Given the description of an element on the screen output the (x, y) to click on. 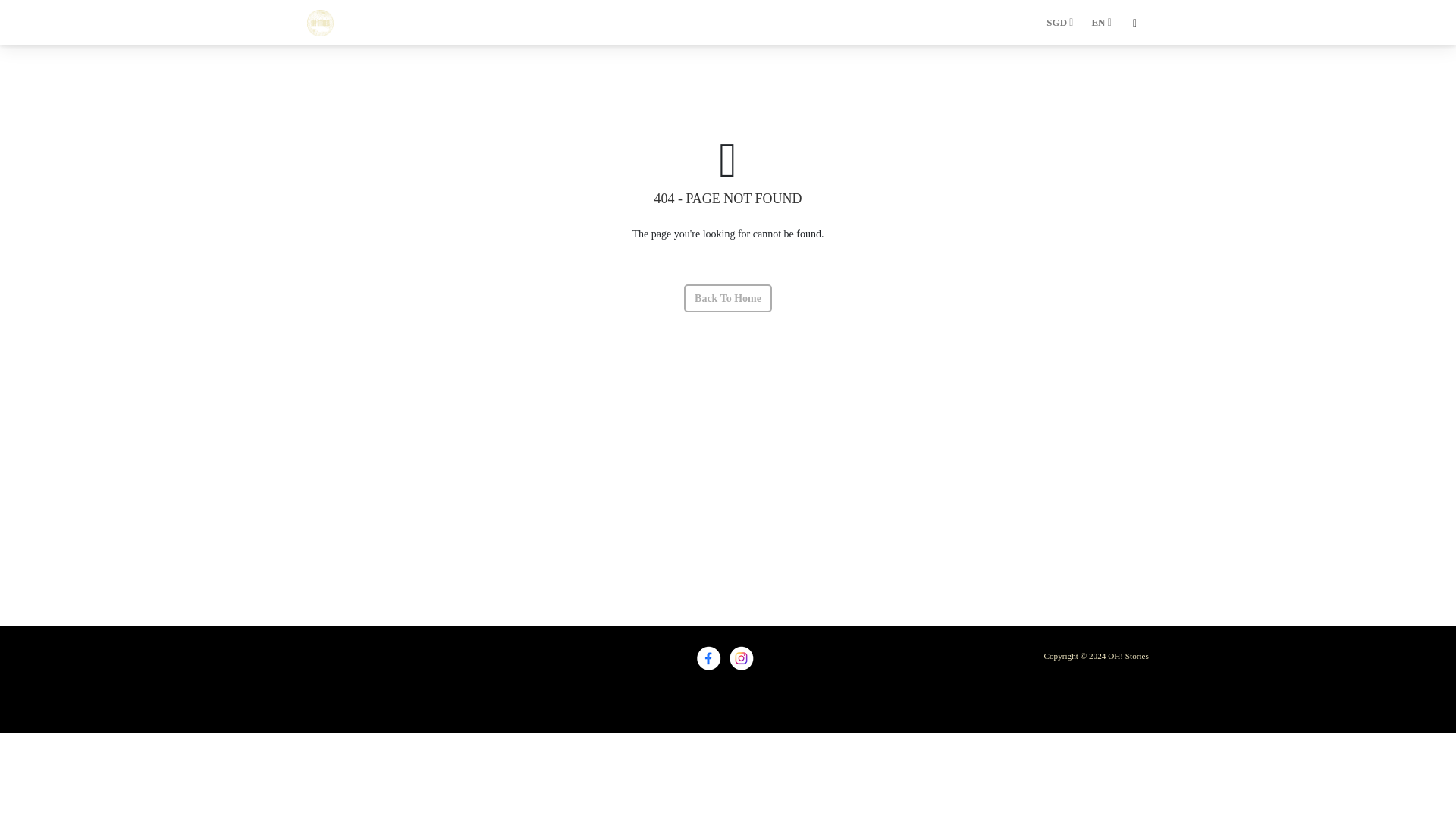
EN (1100, 22)
SGD (1058, 22)
Back To Home (727, 298)
